Given the description of an element on the screen output the (x, y) to click on. 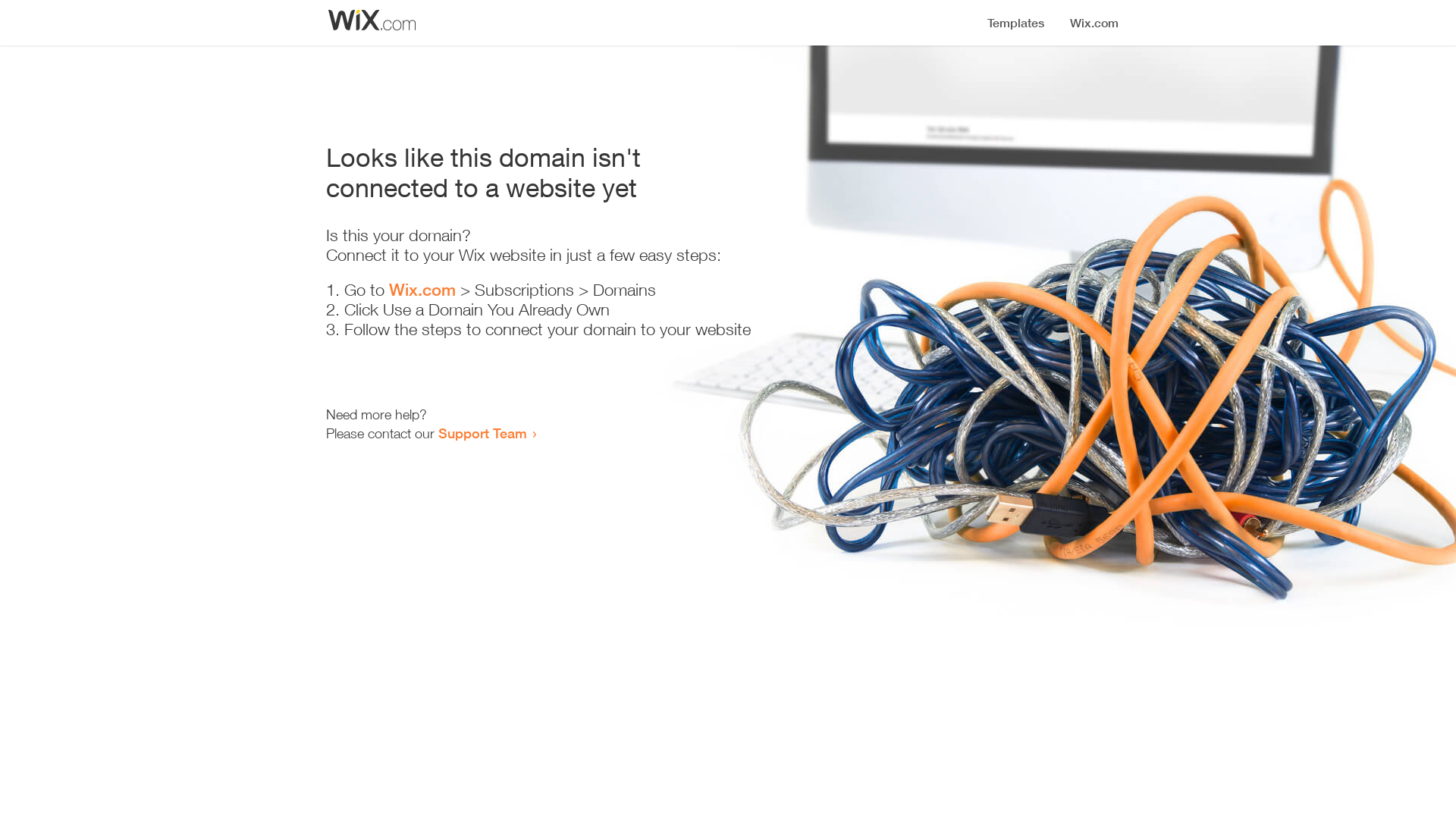
Support Team Element type: text (482, 432)
Wix.com Element type: text (422, 289)
